Given the description of an element on the screen output the (x, y) to click on. 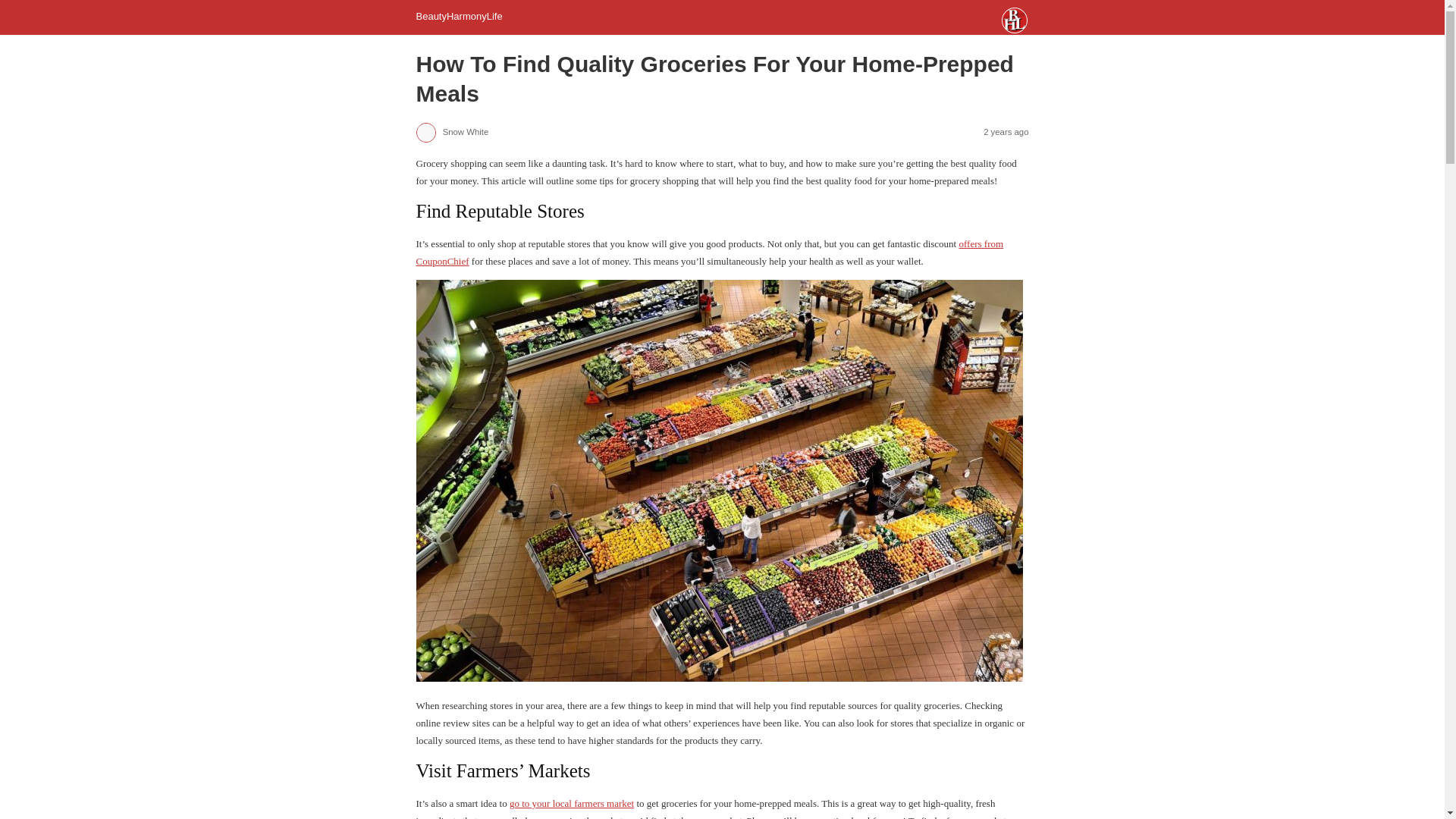
offers from CouponChief (708, 252)
BeautyHarmonyLife (458, 16)
go to your local farmers market (571, 803)
